Given the description of an element on the screen output the (x, y) to click on. 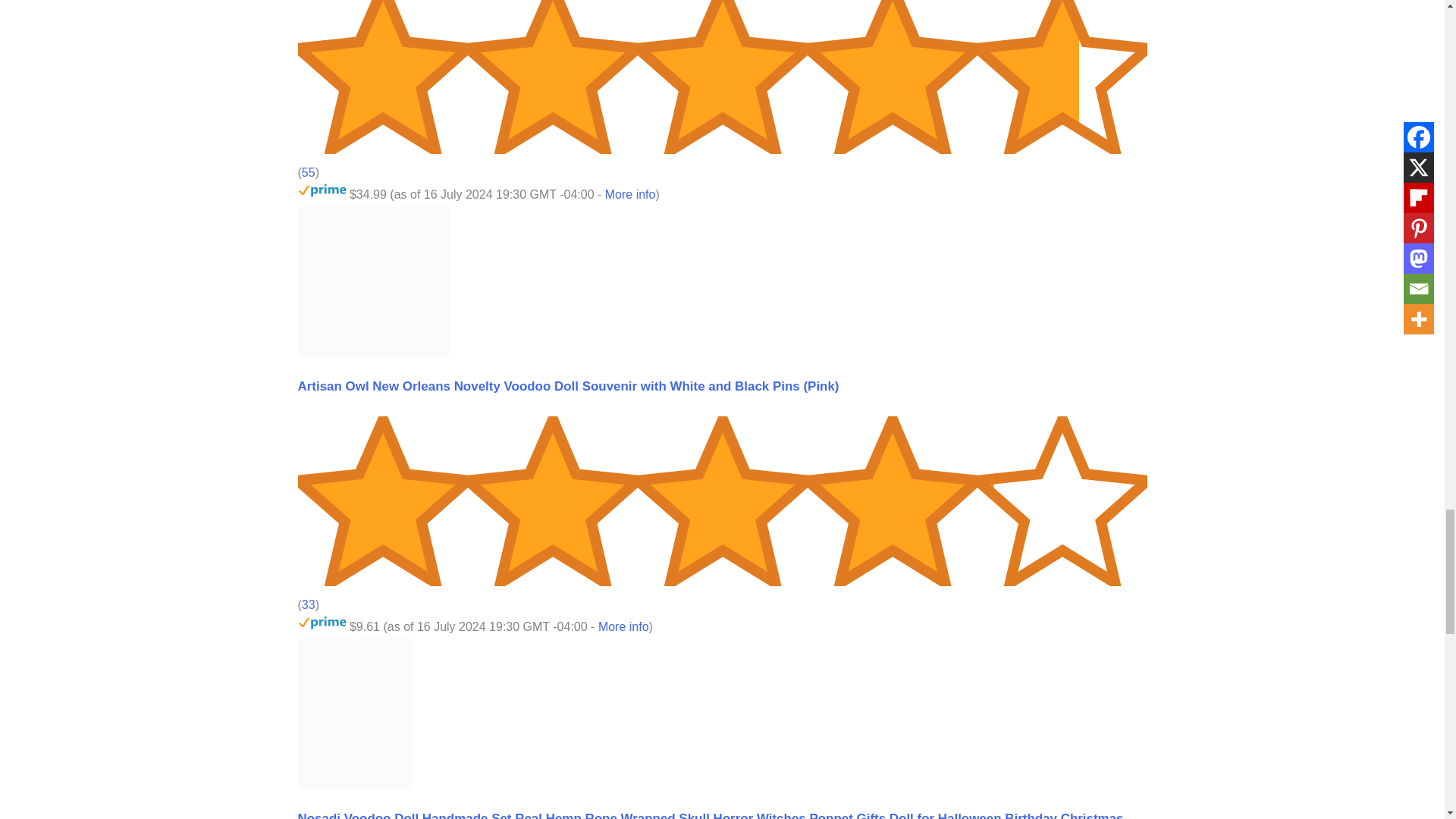
Available for Amazon Prime (321, 191)
4.6 out of 5 stars (722, 76)
